Given the description of an element on the screen output the (x, y) to click on. 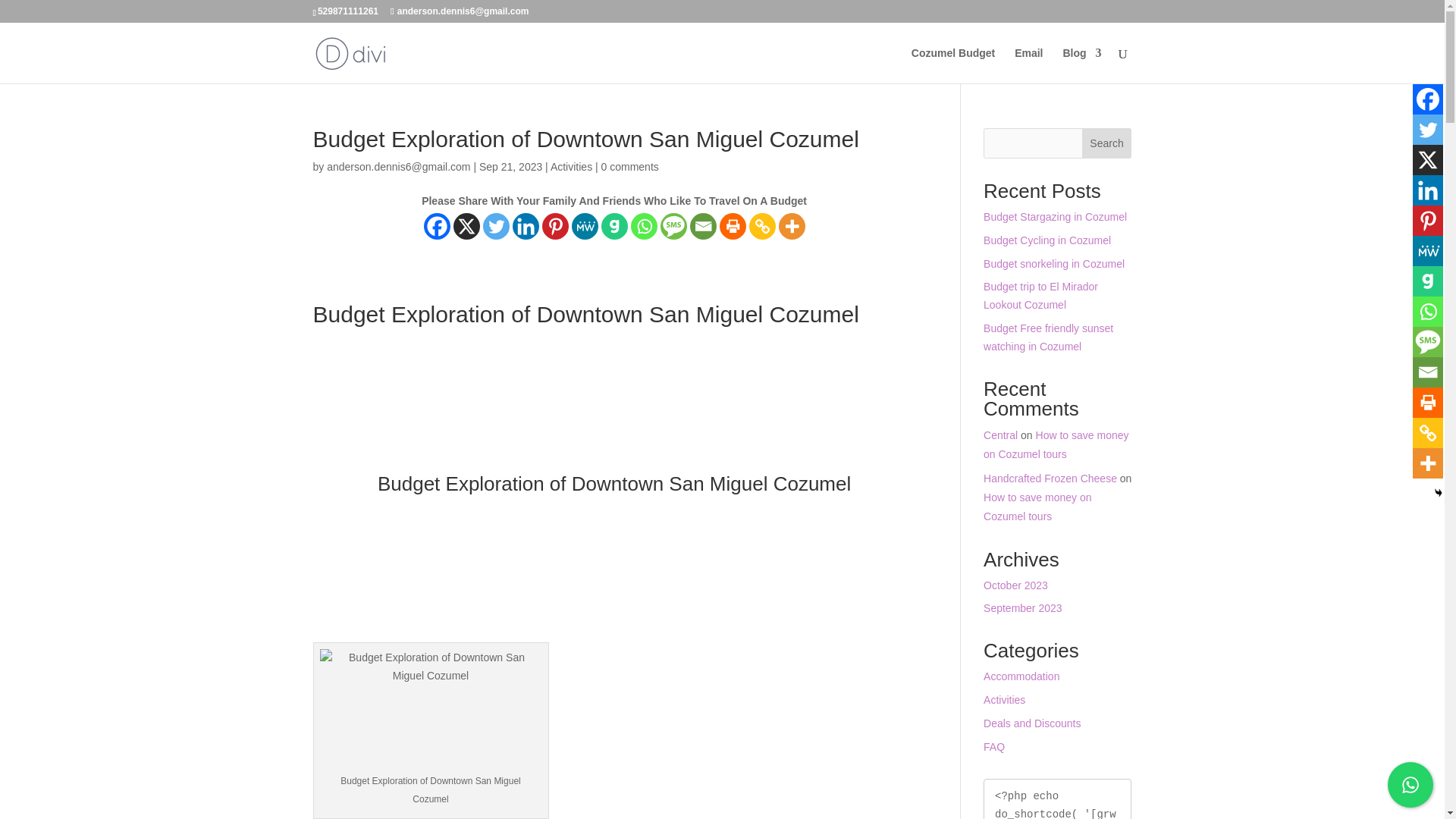
MeWe (585, 225)
Email (703, 225)
Gab (614, 225)
SMS (674, 225)
Email (1028, 65)
Pinterest (555, 225)
Facebook (436, 225)
X (466, 225)
Whatsapp (644, 225)
Print (732, 225)
Activities (571, 166)
Linkedin (525, 225)
Twitter (496, 225)
Blog (1081, 65)
Cozumel Budget (952, 65)
